Given the description of an element on the screen output the (x, y) to click on. 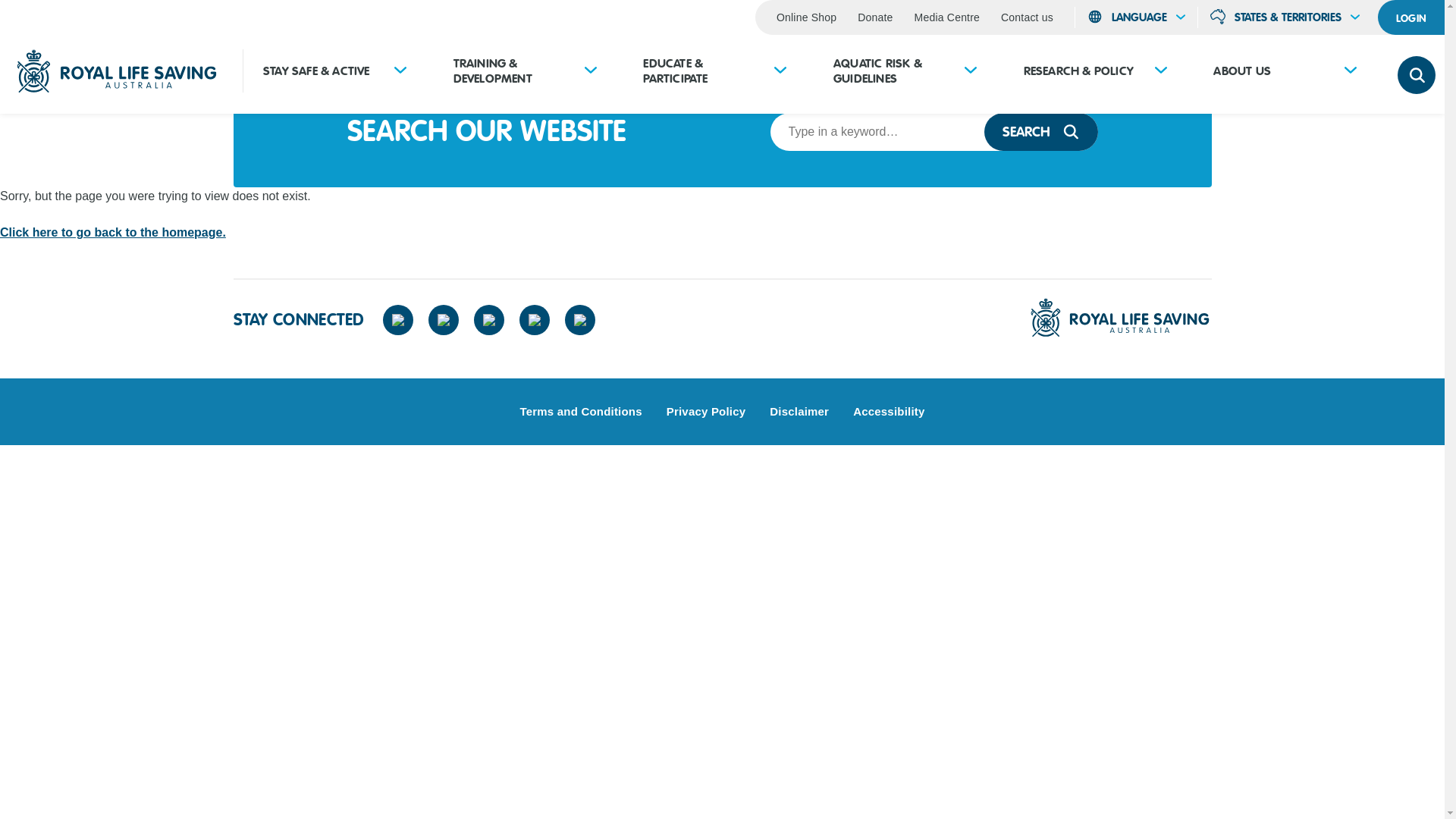
Accessibility Element type: text (888, 410)
Privacy Policy Element type: text (706, 410)
EDUCATE & PARTICIPATE Element type: text (701, 70)
ABOUT US Element type: text (1241, 71)
AQUATIC RISK & GUIDELINES Element type: text (891, 70)
Royal Life Saving Australia on Instagram Element type: text (488, 319)
SEARCH Element type: text (1041, 131)
Search Element type: text (1416, 75)
STATES & TERRITORIES Element type: text (1284, 17)
LANGUAGE Element type: text (1135, 17)
Media Centre Element type: text (946, 17)
STAY SAFE & ACTIVE Element type: text (316, 71)
Royal Life Saving Australia on YouTube Element type: text (534, 319)
Royal Life Saving Society - Australia on Facebook Element type: text (397, 319)
Click here to go back to the homepage. Element type: text (112, 231)
LOGIN Element type: text (1410, 17)
Terms and Conditions Element type: text (581, 410)
Royal Life Saving on Twitter Element type: text (443, 319)
Online Shop Element type: text (806, 17)
RESEARCH & POLICY Element type: text (1078, 71)
TRAINING & DEVELOPMENT Element type: text (511, 70)
Contact us Element type: text (1027, 17)
Disclaimer Element type: text (798, 410)
Donate Element type: text (874, 17)
